Given the description of an element on the screen output the (x, y) to click on. 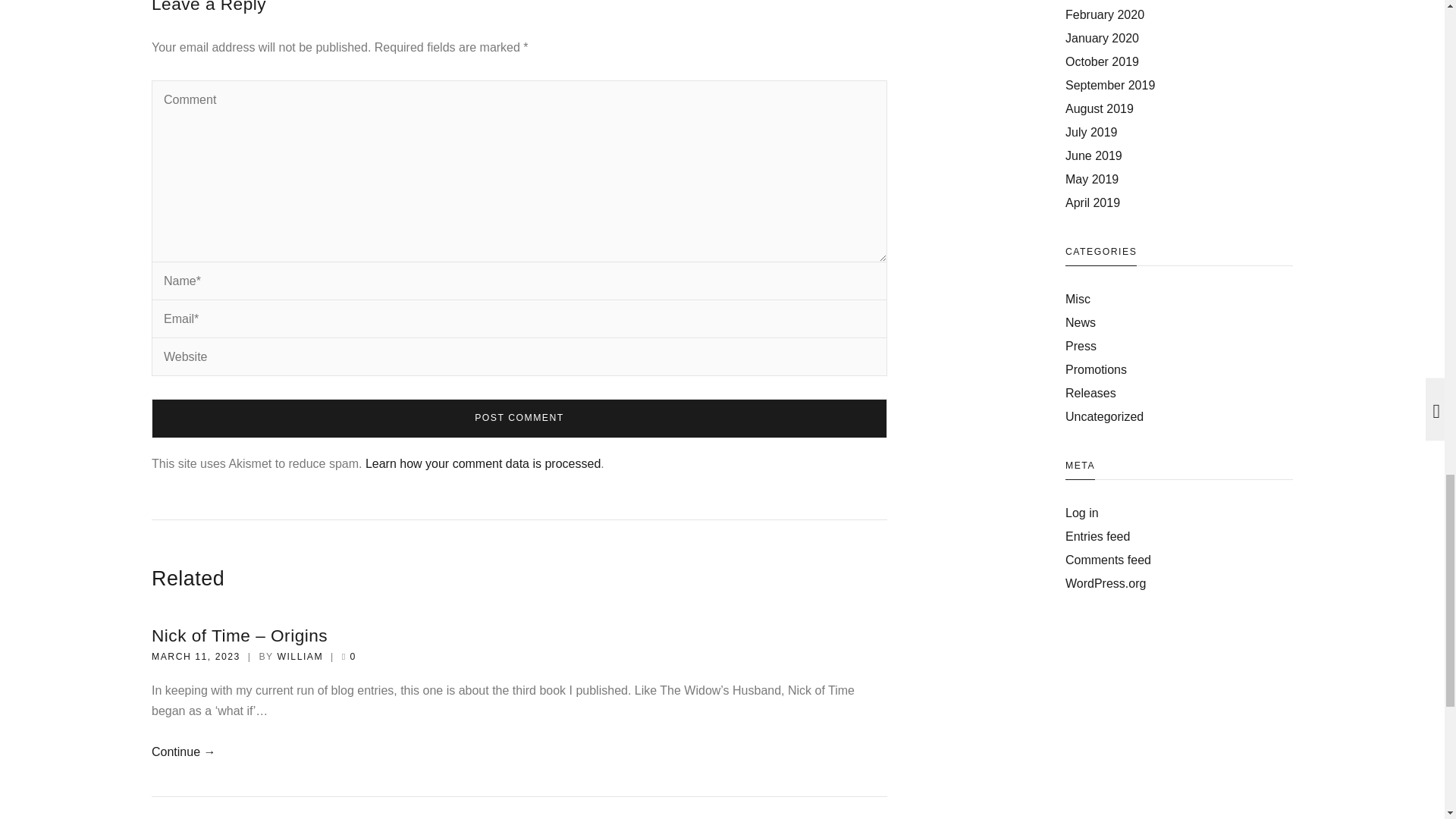
MARCH 11, 2023 (195, 656)
WILLIAM (299, 656)
Post Comment (518, 417)
0 (353, 656)
Learn how your comment data is processed (482, 463)
Post Comment (518, 417)
